Given the description of an element on the screen output the (x, y) to click on. 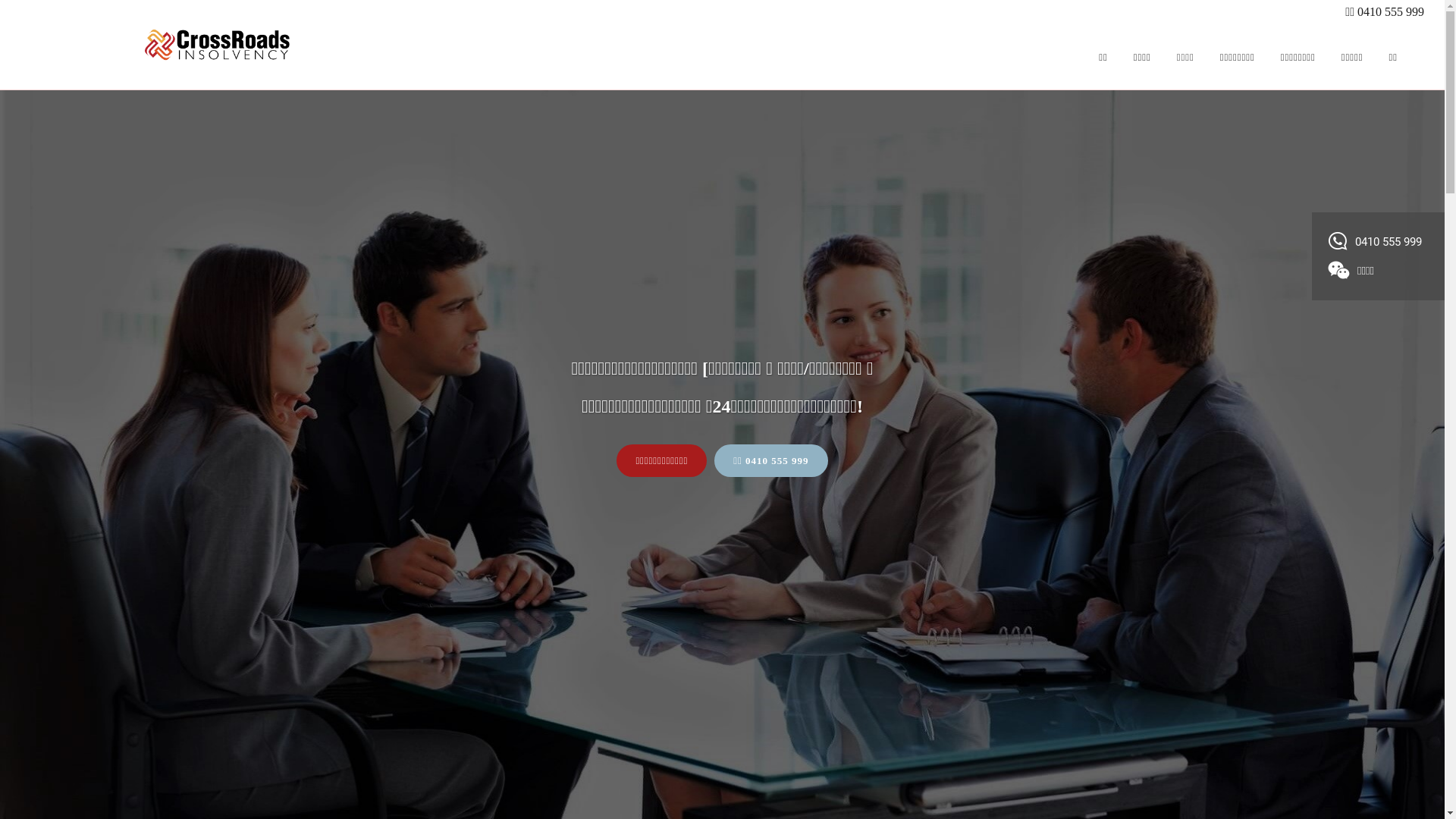
0410 555 999 Element type: text (1375, 240)
0410 555 999 Element type: text (1390, 11)
